Given the description of an element on the screen output the (x, y) to click on. 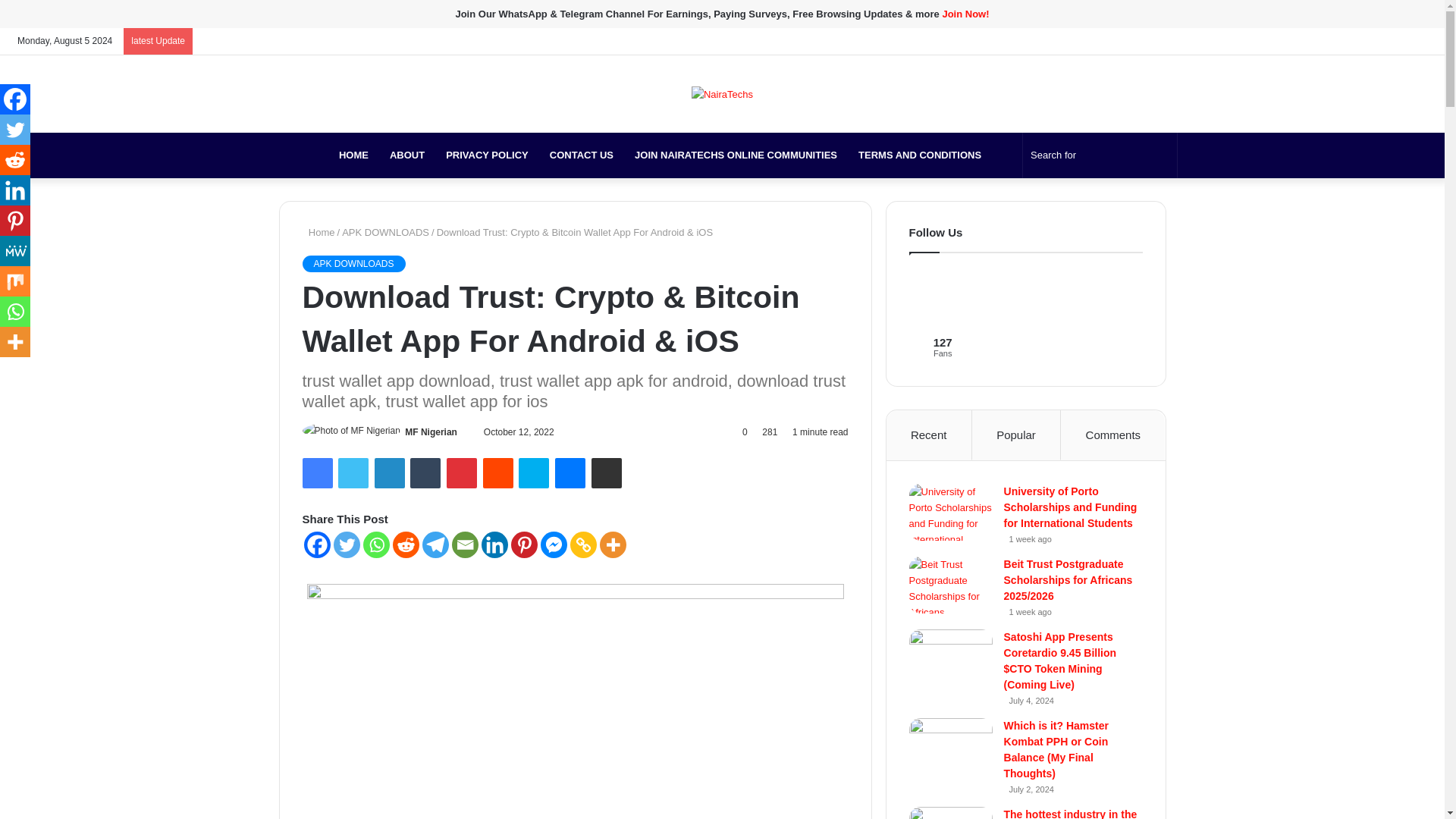
Twitter (352, 472)
Facebook (1239, 40)
Pinterest (461, 472)
Facebook (316, 472)
Twitter (352, 472)
Random Article (1398, 40)
Home (317, 232)
JOIN NAIRATECHS ONLINE COMMUNITIES (735, 155)
TERMS AND CONDITIONS (919, 155)
Search for (1161, 155)
YouTube (1285, 40)
HOME (353, 155)
APK DOWNLOADS (385, 232)
LinkedIn (389, 472)
